Given the description of an element on the screen output the (x, y) to click on. 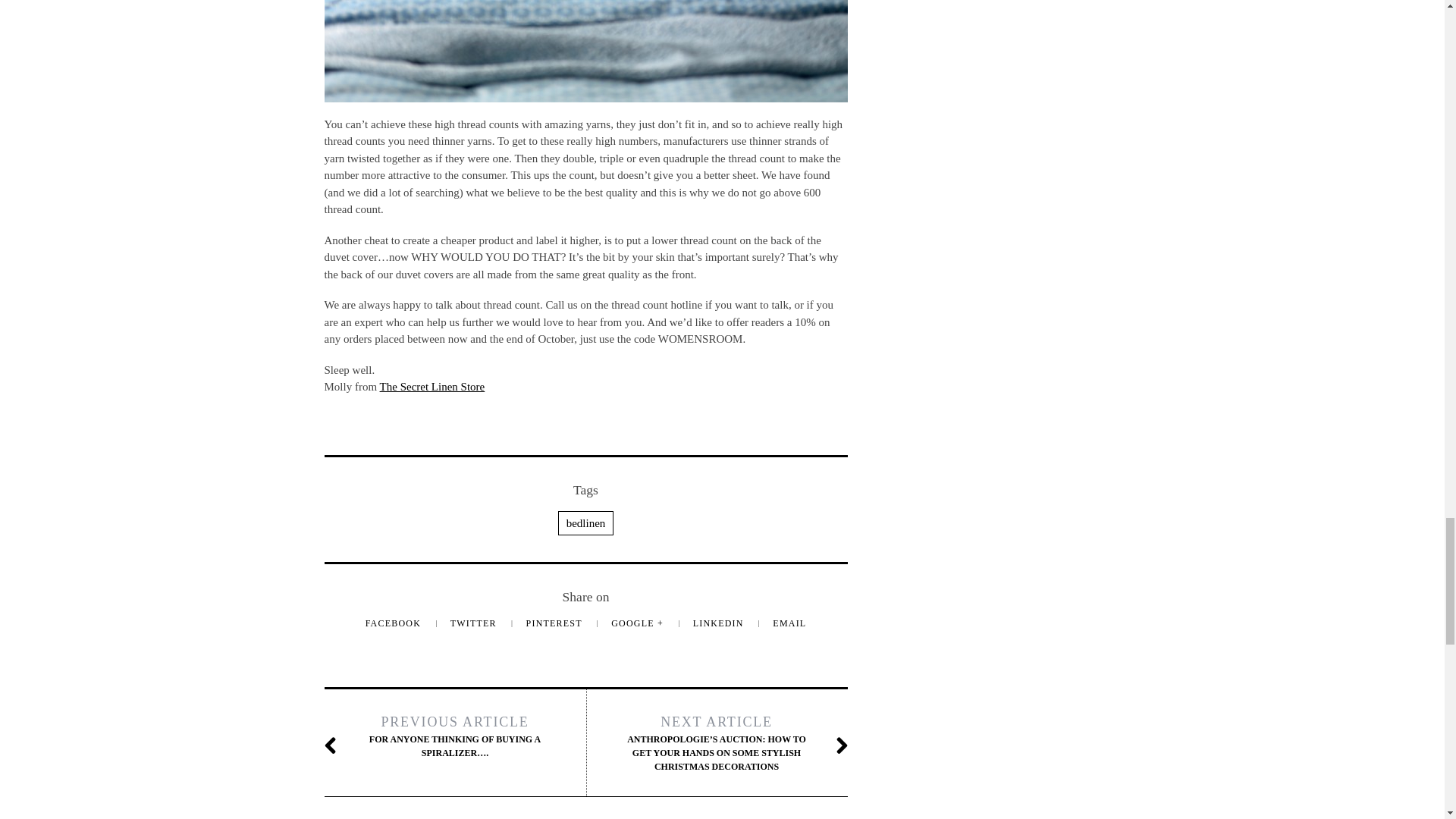
The Secret Linen Store (432, 386)
bedlinen (585, 523)
PINTEREST (555, 623)
FACEBOOK (395, 623)
EMAIL (789, 623)
TWITTER (474, 623)
LINKEDIN (719, 623)
